Given the description of an element on the screen output the (x, y) to click on. 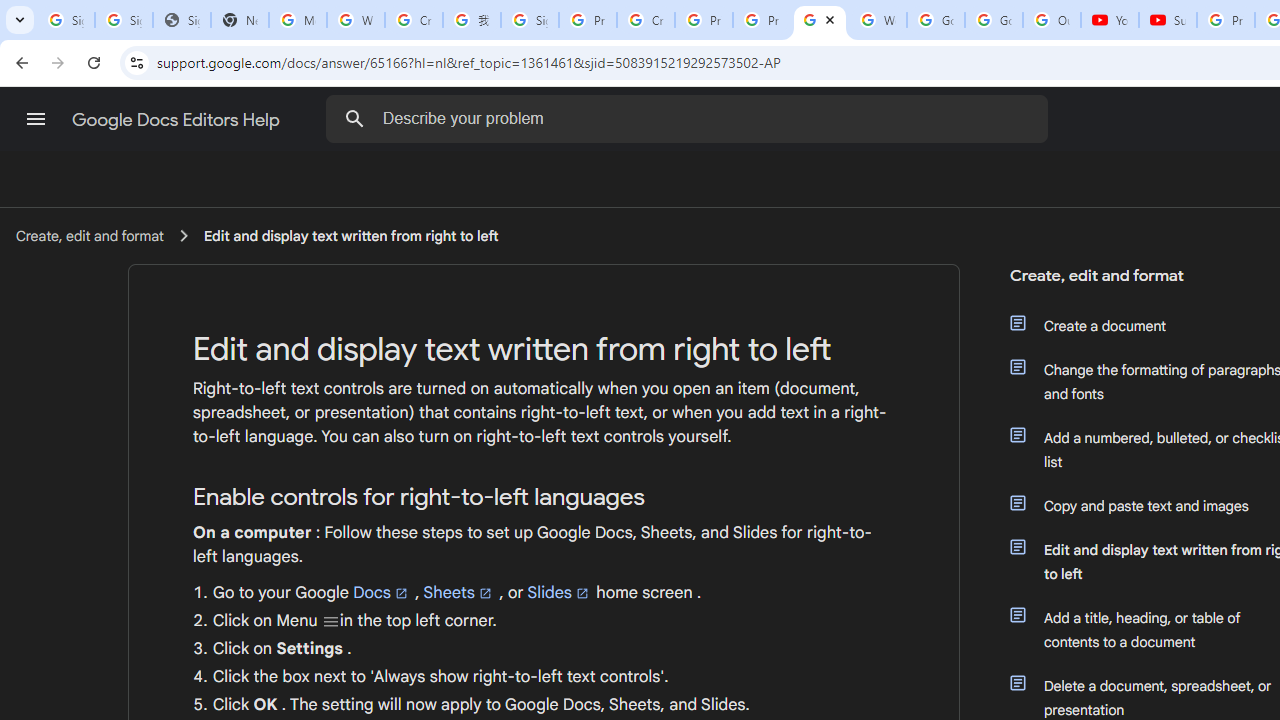
Who is my administrator? - Google Account Help (355, 20)
Edit and view right-to-left text - Google Docs Editors Help (819, 20)
Search the Help Center (354, 118)
Create your Google Account (645, 20)
Google Docs Editors Help (177, 119)
Create your Google Account (413, 20)
Sign in - Google Accounts (65, 20)
Sign in - Google Accounts (529, 20)
Docs (382, 593)
Google Account (993, 20)
Sign in - Google Accounts (123, 20)
